Given the description of an element on the screen output the (x, y) to click on. 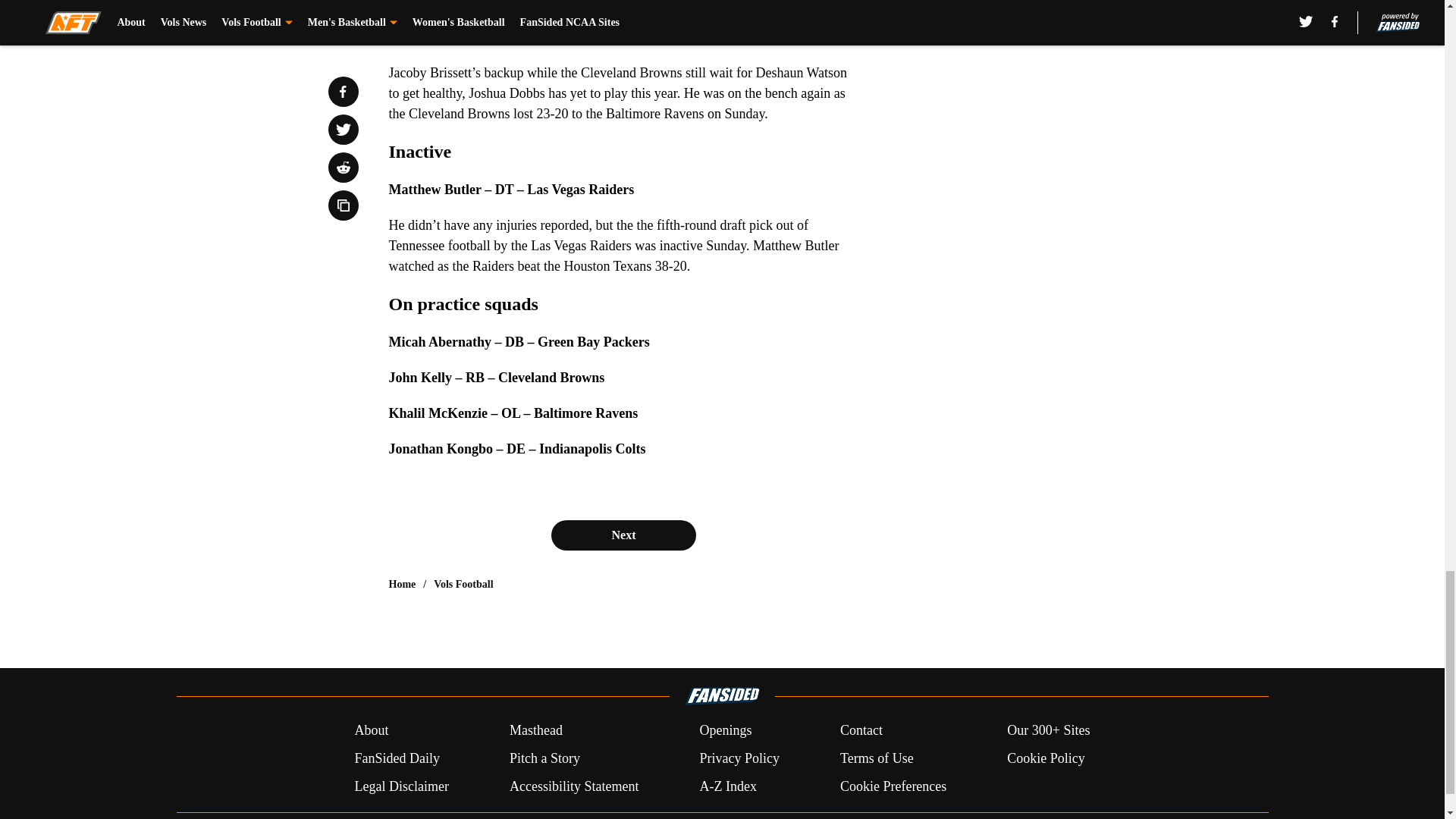
Next (622, 535)
Home (401, 584)
Contact (861, 730)
Cookie Policy (1045, 758)
Masthead (535, 730)
Legal Disclaimer (400, 786)
Openings (724, 730)
Pitch a Story (544, 758)
About (370, 730)
Privacy Policy (738, 758)
Terms of Use (877, 758)
Vols Football (463, 584)
FanSided Daily (396, 758)
